Given the description of an element on the screen output the (x, y) to click on. 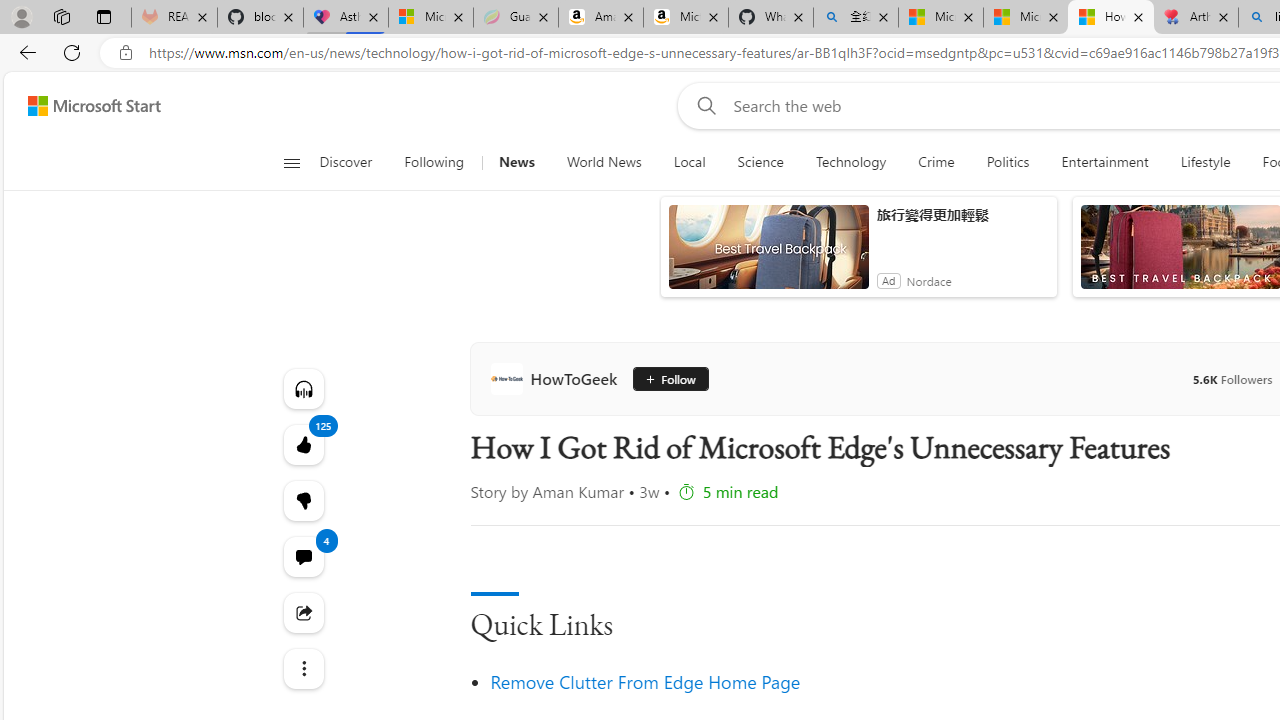
View site information (125, 53)
Personal Profile (21, 16)
News (516, 162)
